Given the description of an element on the screen output the (x, y) to click on. 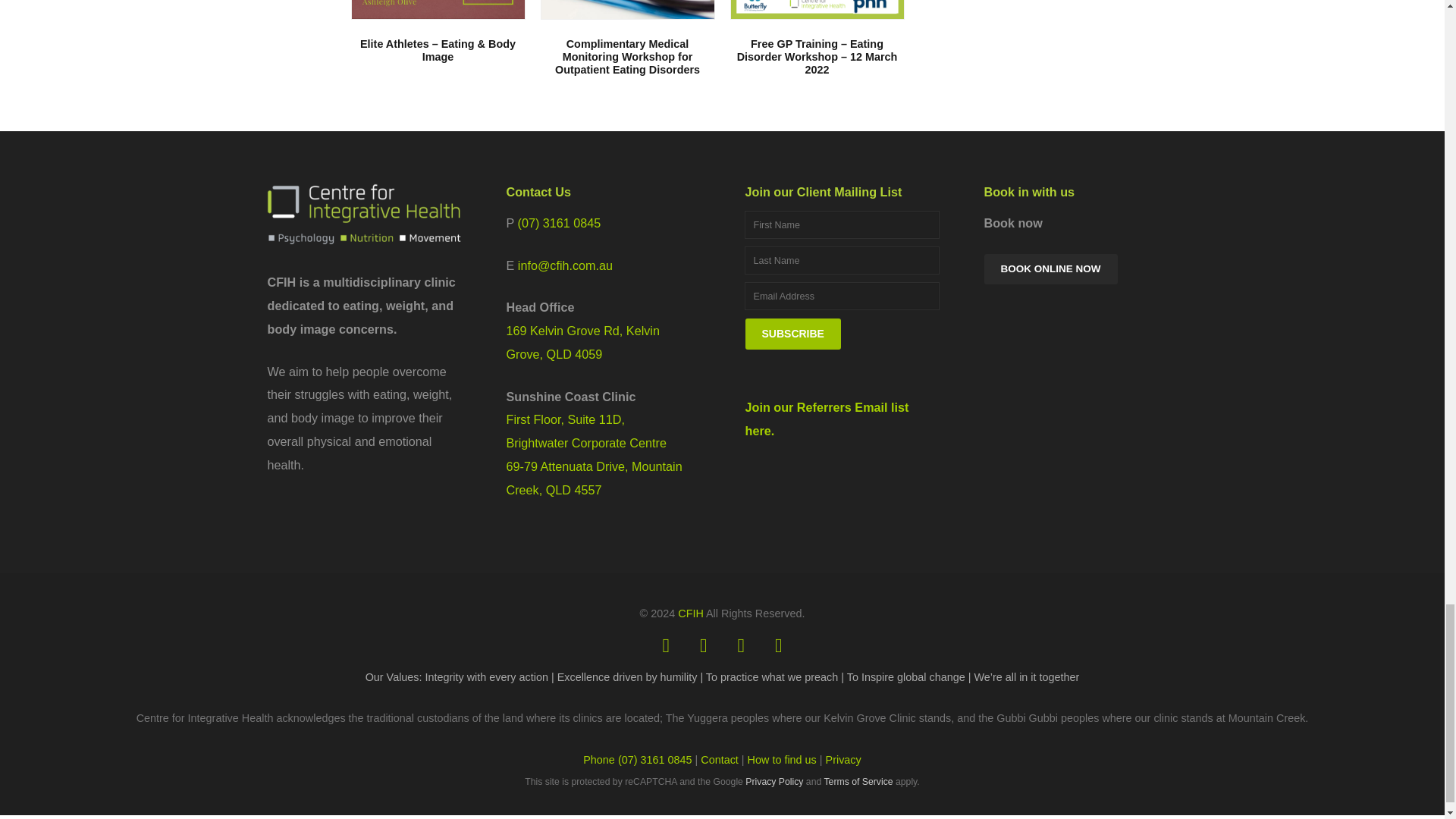
Subscribe (792, 333)
Book Online (1051, 268)
